Given the description of an element on the screen output the (x, y) to click on. 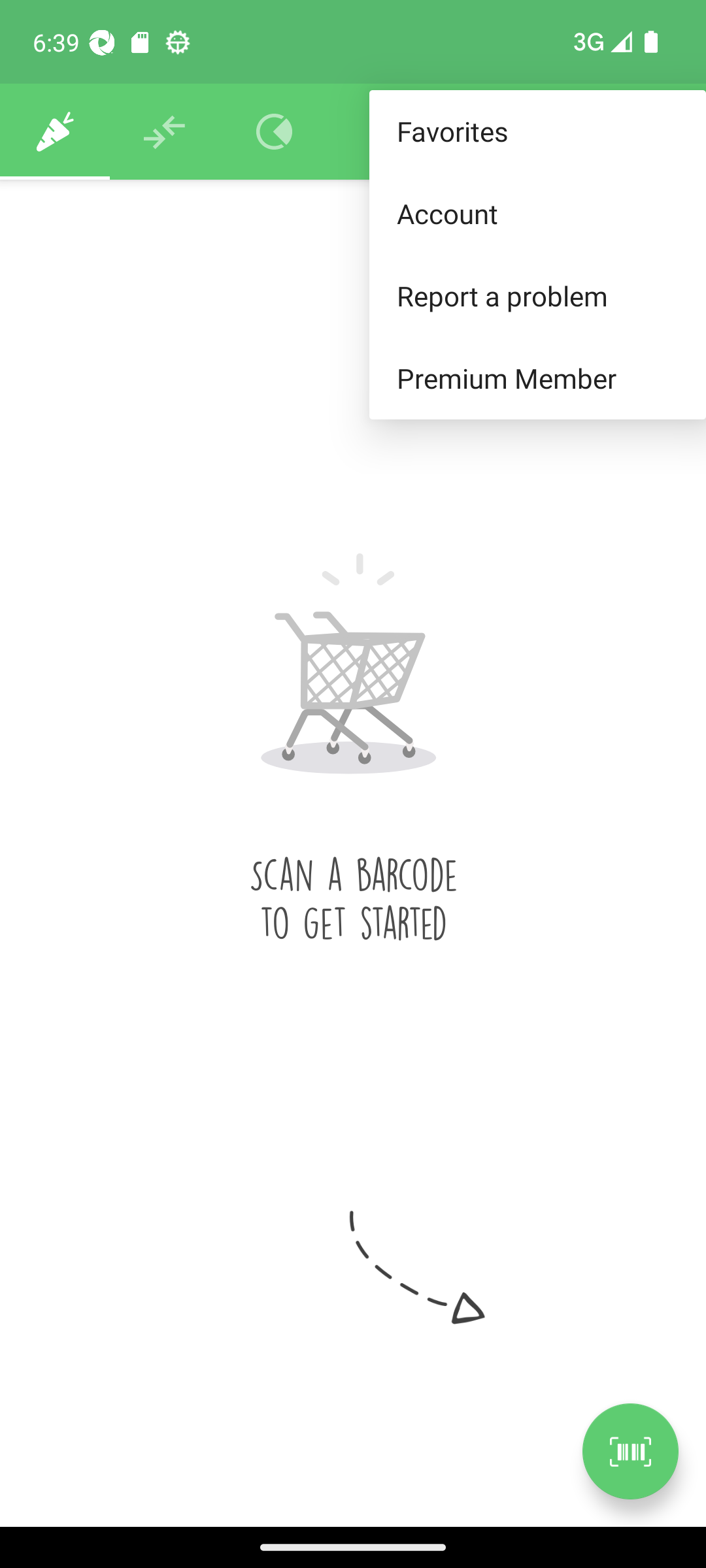
Favorites (537, 131)
Account (537, 213)
Report a problem (537, 295)
Premium Member (537, 378)
